Given the description of an element on the screen output the (x, y) to click on. 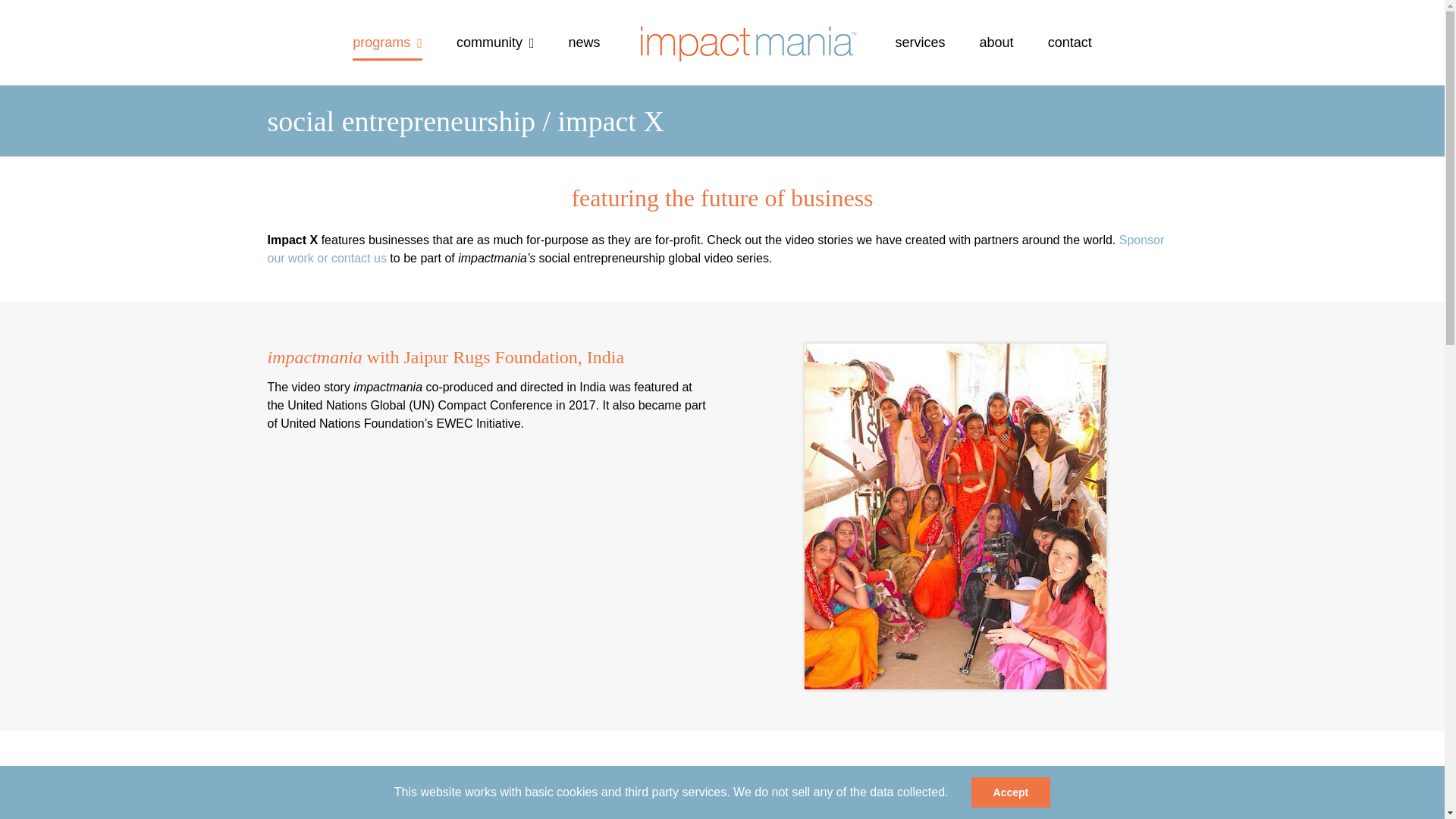
programs (387, 42)
community (495, 42)
